Given the description of an element on the screen output the (x, y) to click on. 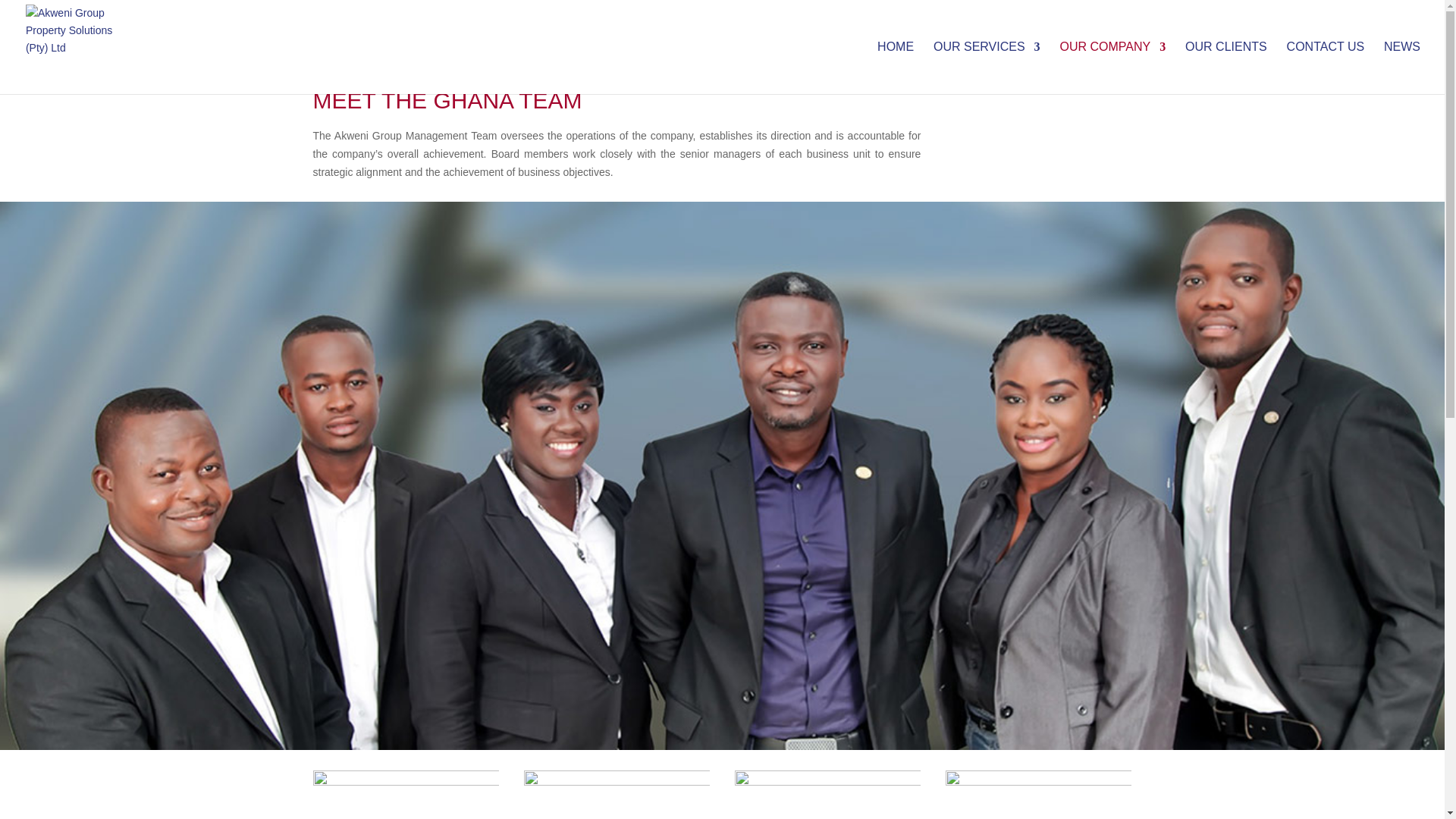
HOME (895, 67)
OUR COMPANY (1112, 67)
NEWS (1402, 67)
OUR CLIENTS (1225, 67)
OUR SERVICES (987, 67)
CONTACT US (1326, 67)
